Given the description of an element on the screen output the (x, y) to click on. 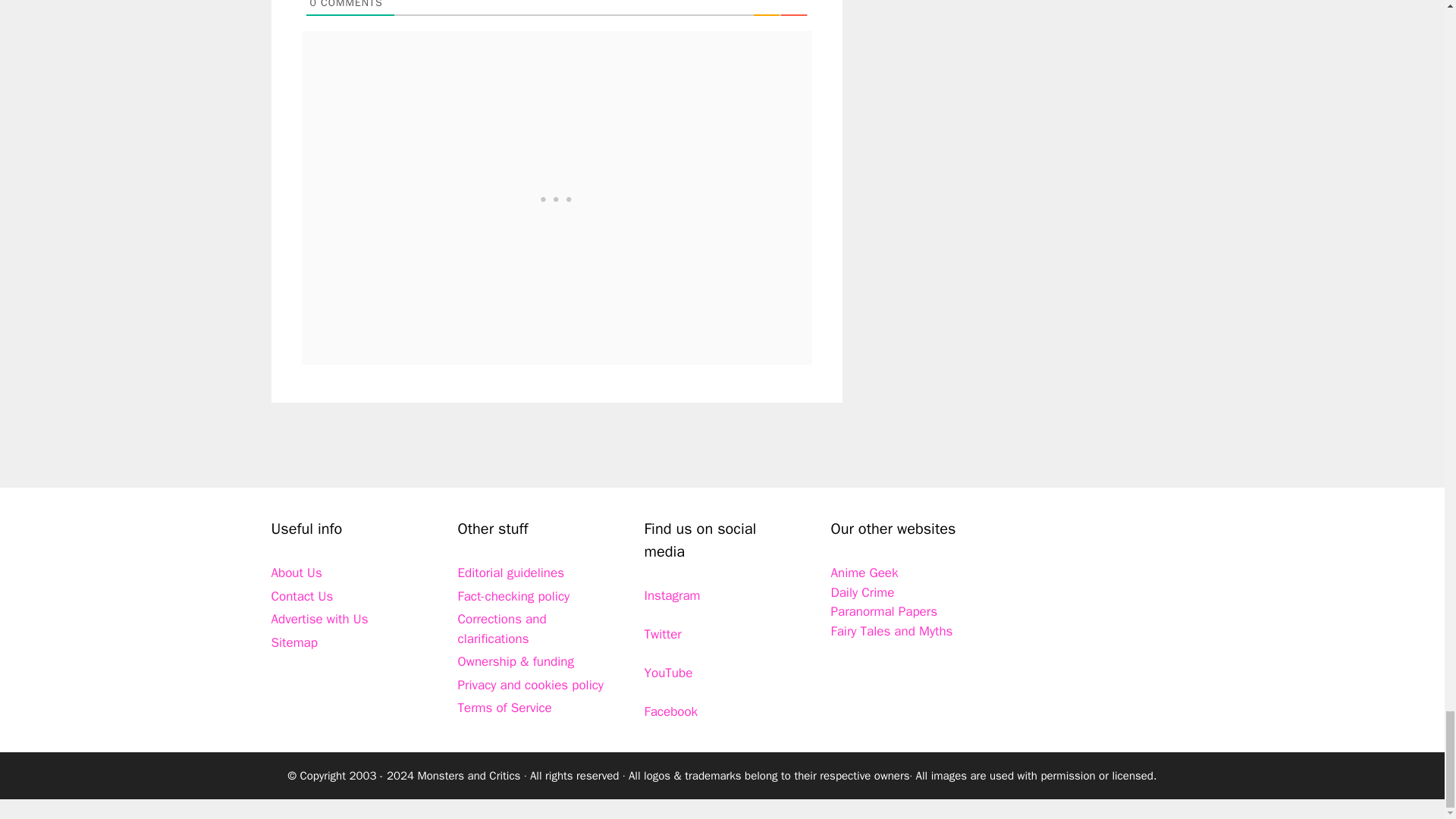
About Us (295, 572)
Sitemap (293, 642)
Advertise with Us (319, 618)
Contact Us (301, 596)
Editorial guidelines (511, 572)
Corrections and clarifications (502, 628)
Fact-checking policy (514, 596)
